Given the description of an element on the screen output the (x, y) to click on. 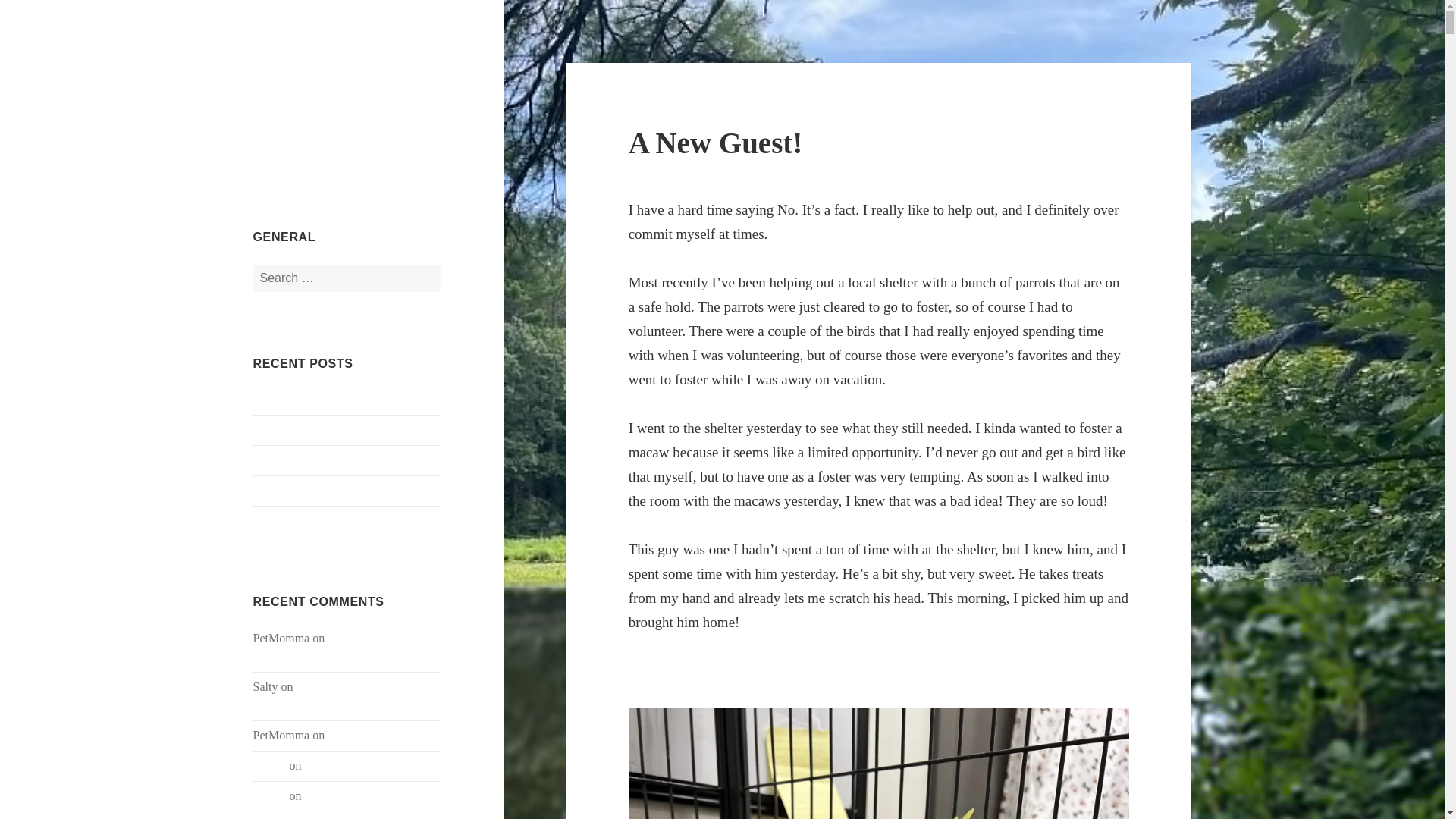
Sam K (269, 795)
Pet Momma (310, 74)
Way too long! (338, 795)
Way too long! (338, 765)
Volunteering Update (303, 490)
When to add a new puppy? (319, 460)
Happy Hatch Day Hector D. Byrd! (333, 646)
